Given the description of an element on the screen output the (x, y) to click on. 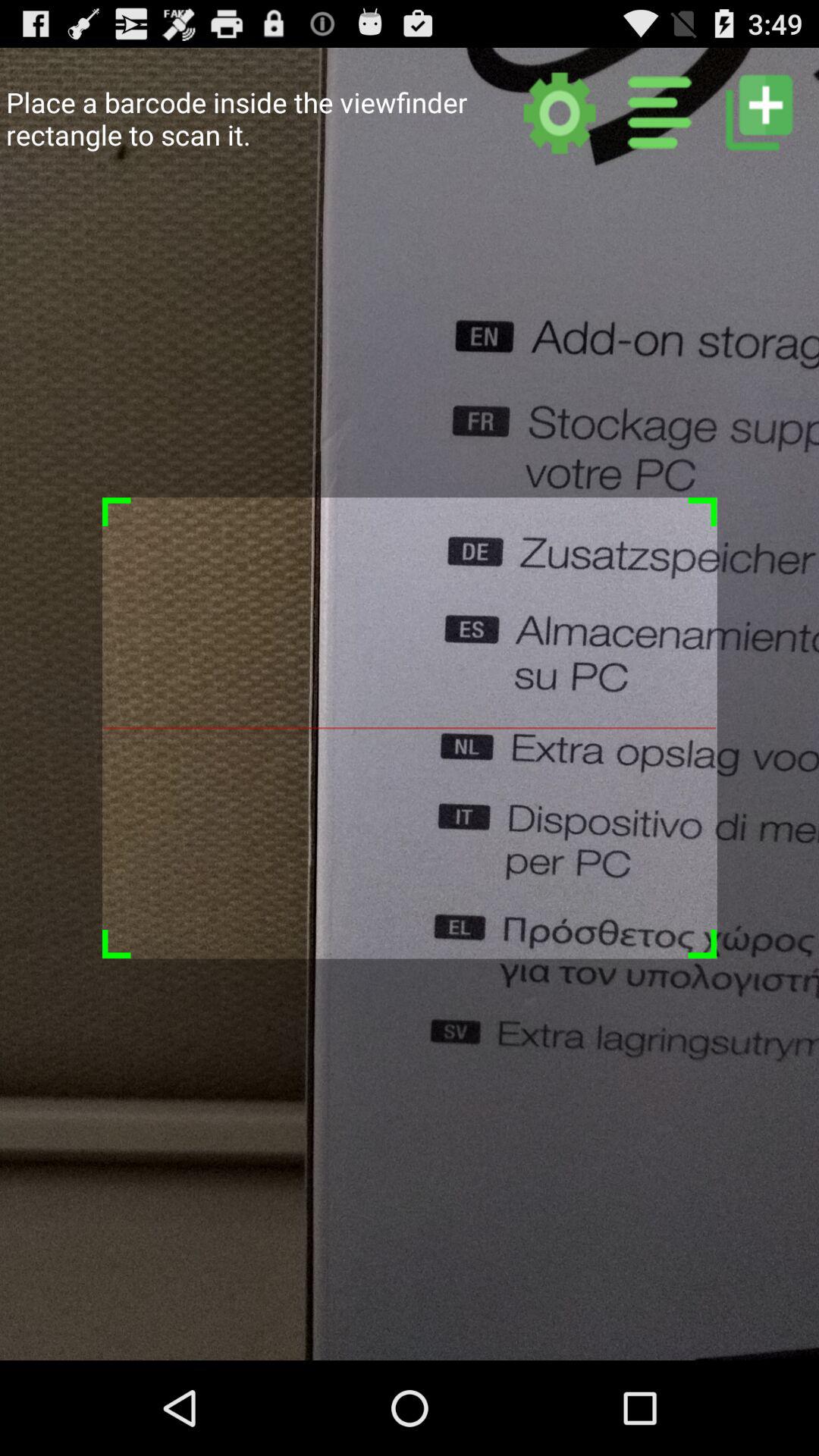
other categories (659, 112)
